Given the description of an element on the screen output the (x, y) to click on. 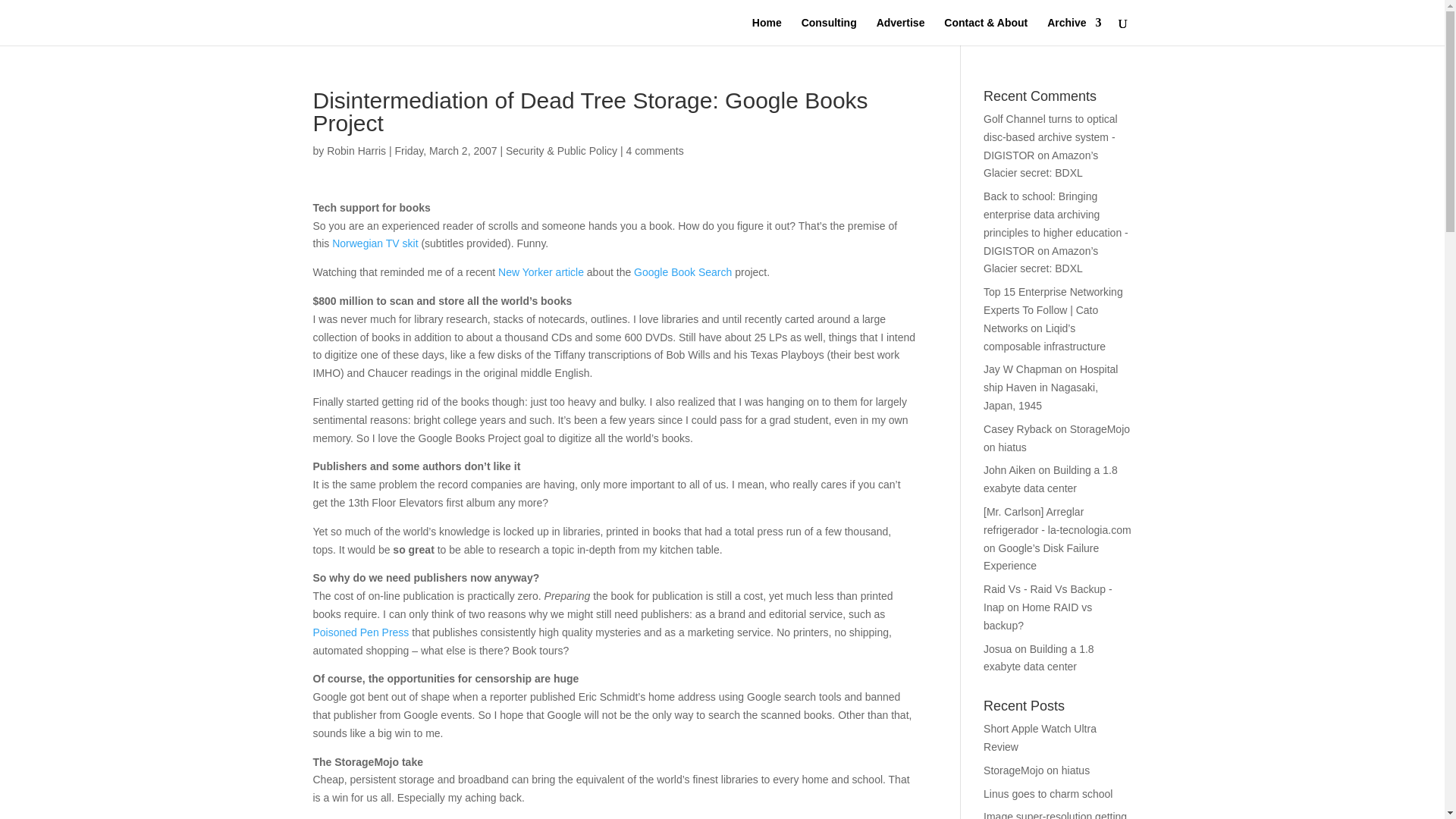
Archive (1073, 31)
John Aiken (1009, 469)
Josua (997, 648)
Advertise (900, 31)
Home RAID vs backup? (1038, 616)
Building a 1.8 exabyte data center (1051, 479)
Robin Harris (355, 150)
Google Book Search (682, 272)
Poisoned Pen Press (361, 632)
New Yorker article (540, 272)
Hospital ship Haven in Nagasaki, Japan, 1945 (1051, 387)
Consulting (829, 31)
Raid Vs - Raid Vs Backup - Inap (1048, 598)
